Given the description of an element on the screen output the (x, y) to click on. 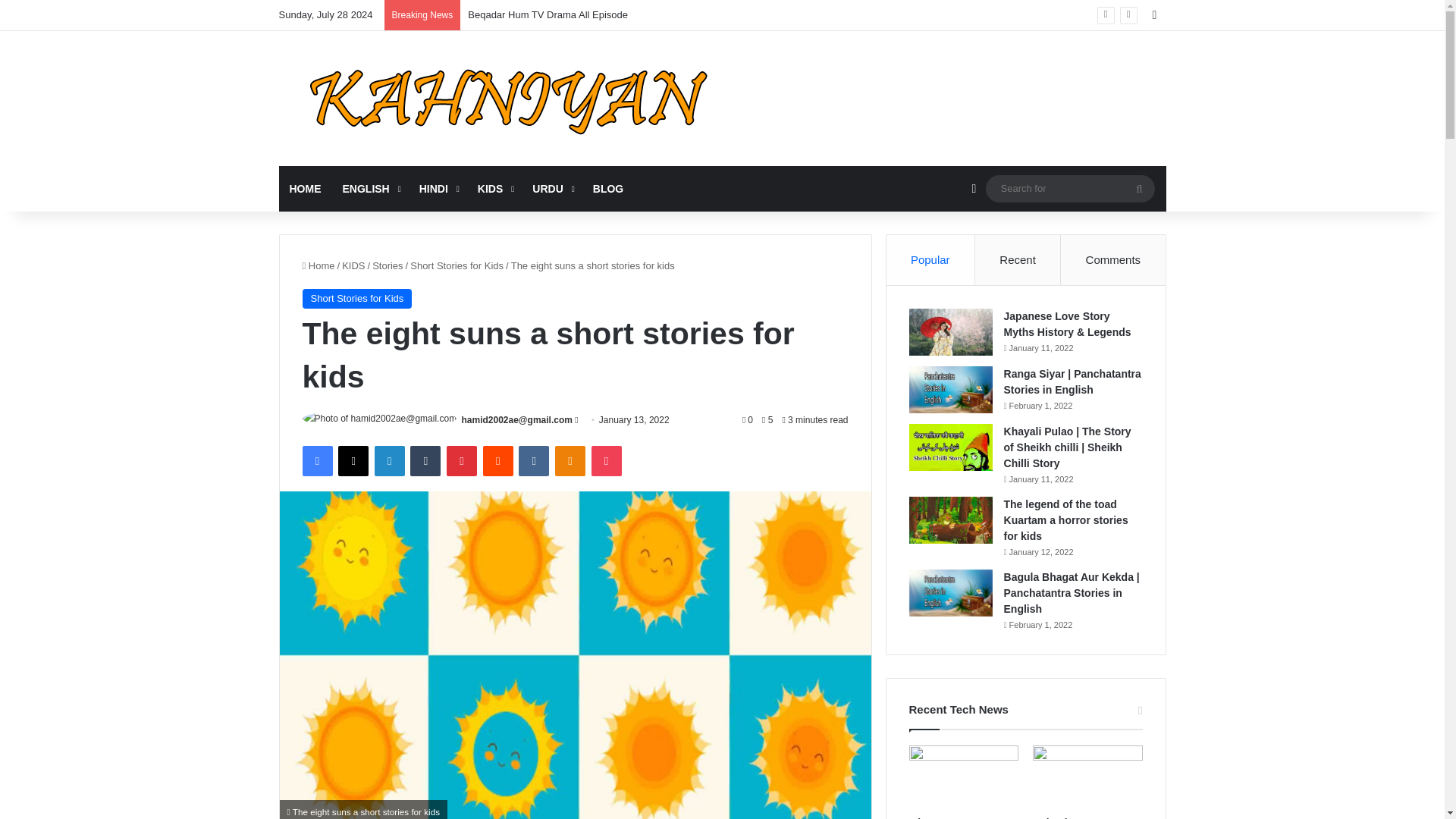
HOME (305, 188)
Kahniyan (506, 98)
Search for (1069, 188)
Facebook (316, 460)
Tumblr (425, 460)
KIDS (353, 265)
LinkedIn (389, 460)
KIDS (494, 188)
Stories (387, 265)
BLOG (607, 188)
Beqadar Hum TV Drama All Episode (547, 14)
Pinterest (461, 460)
URDU (550, 188)
Reddit (498, 460)
Home (317, 265)
